Given the description of an element on the screen output the (x, y) to click on. 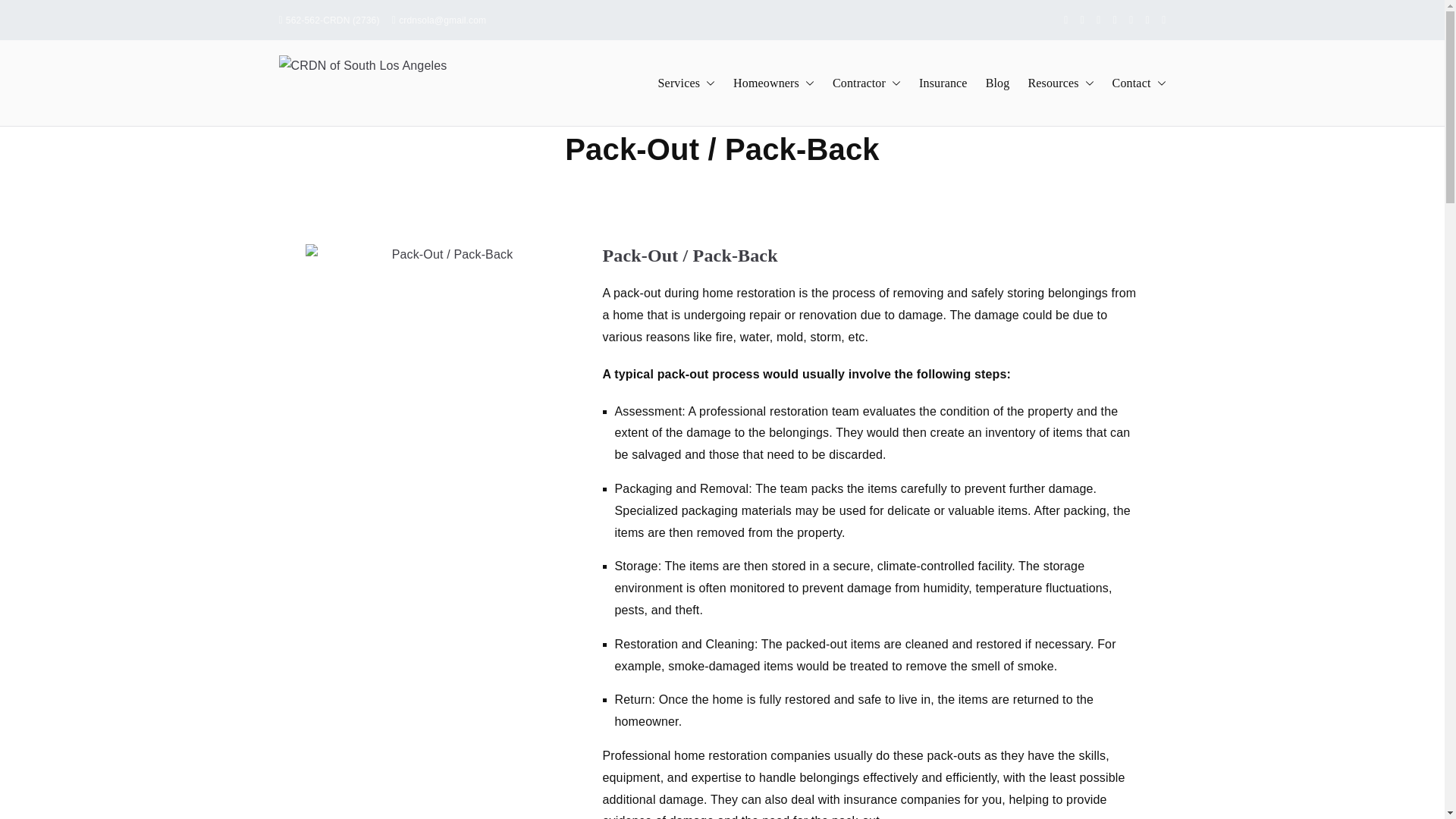
Insurance (943, 83)
CRDN of South Los Angeles (571, 93)
Blog (997, 83)
Homeowners (773, 83)
Resources (1060, 83)
Services (686, 83)
Contractor (866, 83)
